Given the description of an element on the screen output the (x, y) to click on. 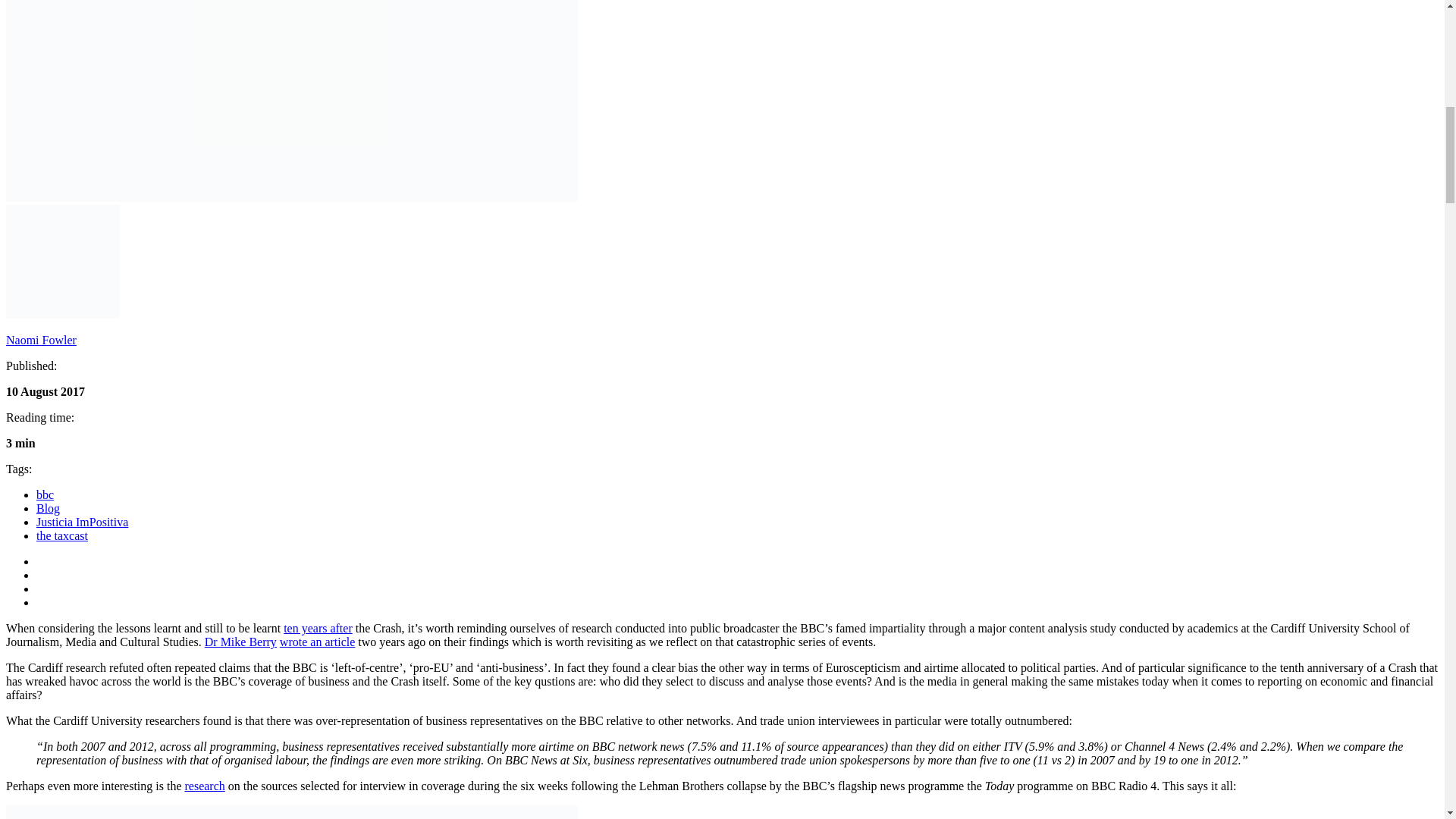
CityVoicesMediaBias (291, 100)
Posts by Naomi Fowler (41, 339)
Blog (47, 508)
bbc (44, 494)
the taxcast (61, 535)
Naomi Fowler (41, 339)
Justicia ImPositiva (82, 521)
